Given the description of an element on the screen output the (x, y) to click on. 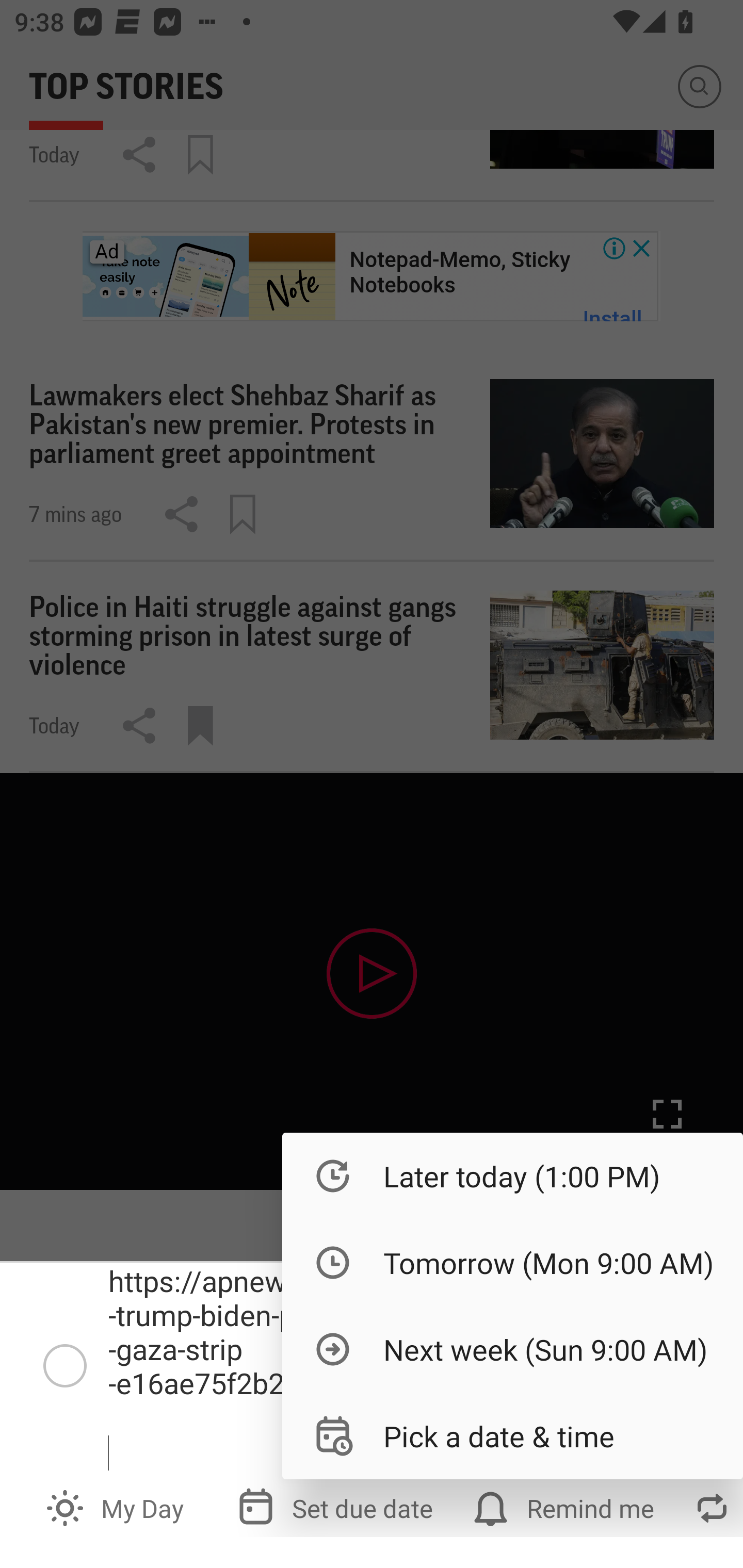
Later today (1:00 PM)1 in 4 Later today (1:00 PM) (512, 1175)
Pick a date & time4 in 4 Pick a date & time (512, 1435)
